Given the description of an element on the screen output the (x, y) to click on. 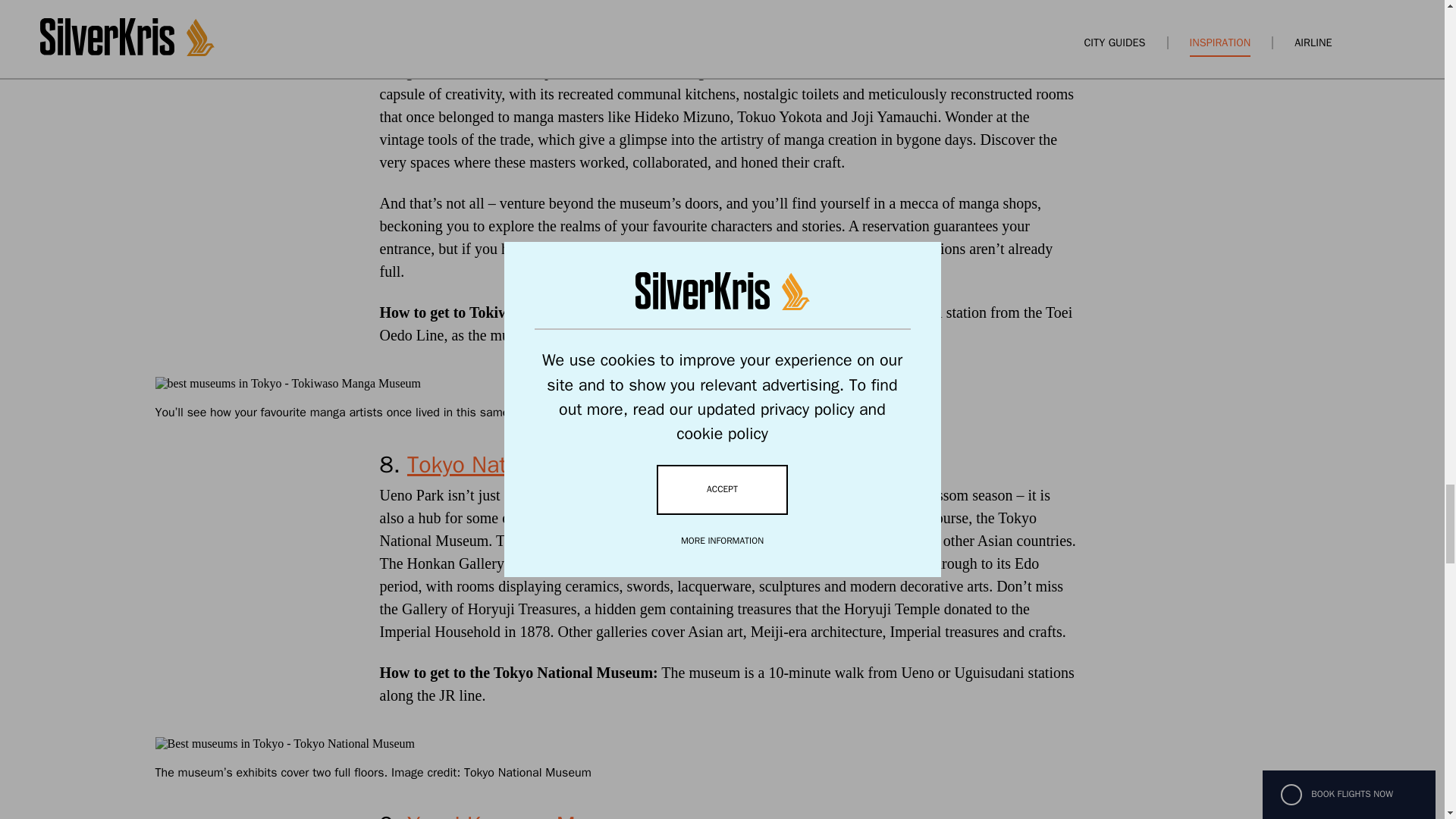
Tokyo National Museum (528, 464)
Yayoi Kusama Museum (525, 814)
Tokiwaso Manga Museum (537, 4)
